Given the description of an element on the screen output the (x, y) to click on. 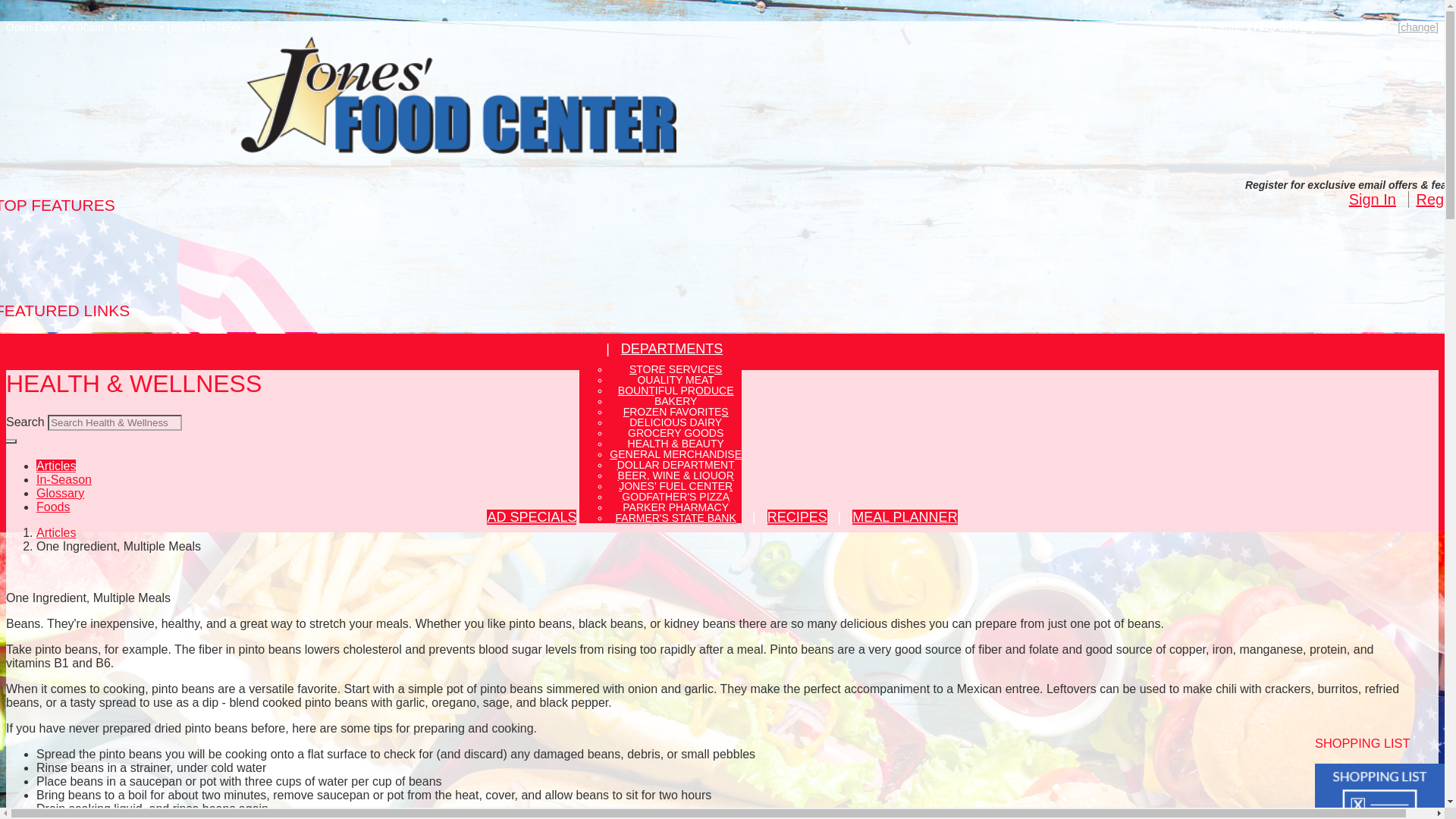
AD SPECIALS (531, 516)
GROCERY GOODS (675, 432)
Sign In (1372, 199)
BAKERY (675, 400)
Goto Shopping List (1379, 803)
FROZEN FAVORITES (676, 411)
Click to sign in to your account (1372, 199)
DELICIOUS DAIRY (675, 422)
STORE SERVICES (675, 369)
BOUNTIFUL PRODUCE (675, 390)
DEPARTMENTS (671, 348)
QUALITY MEAT (675, 379)
